Given the description of an element on the screen output the (x, y) to click on. 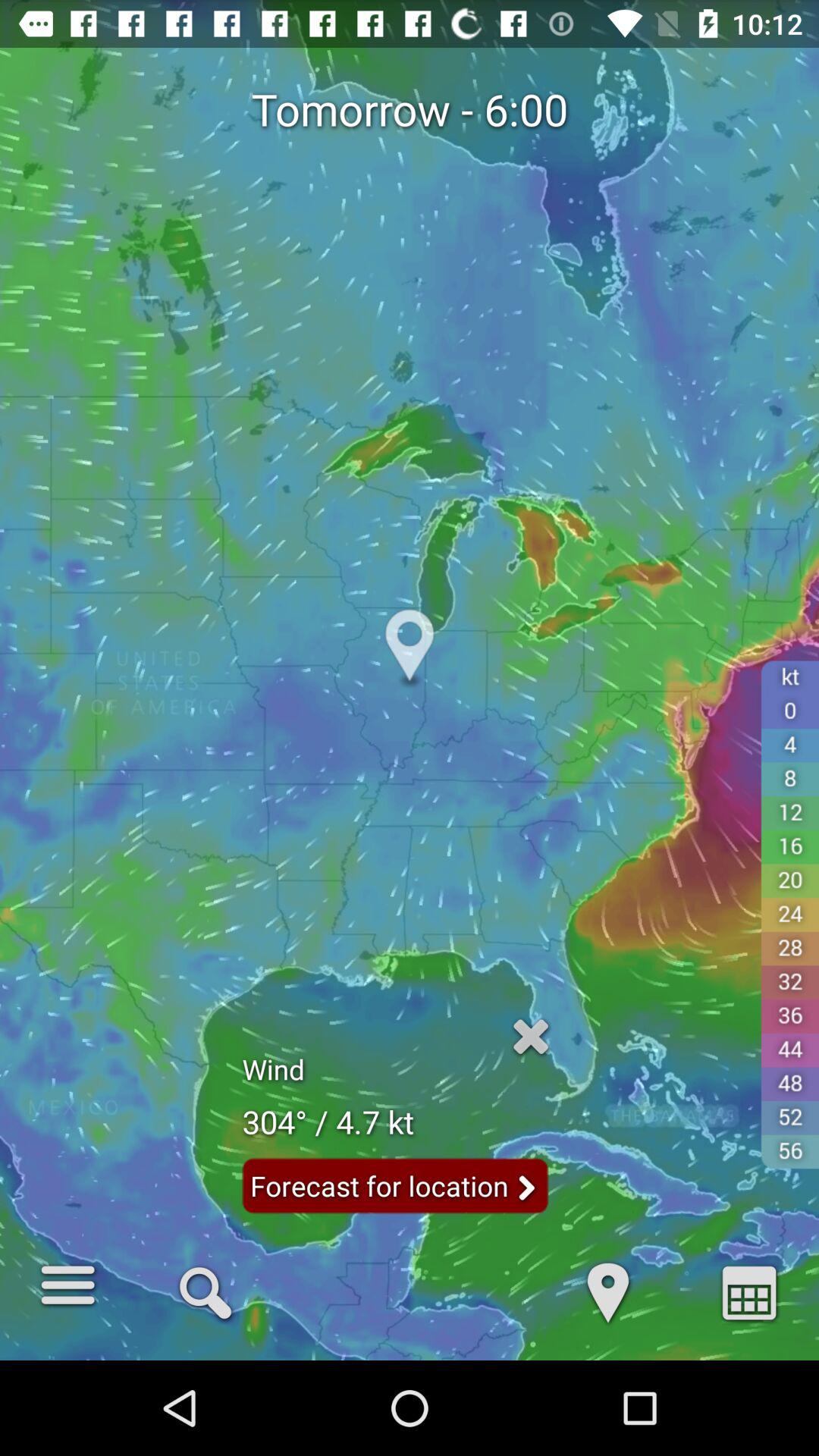
click the icon next to d (205, 1291)
